Given the description of an element on the screen output the (x, y) to click on. 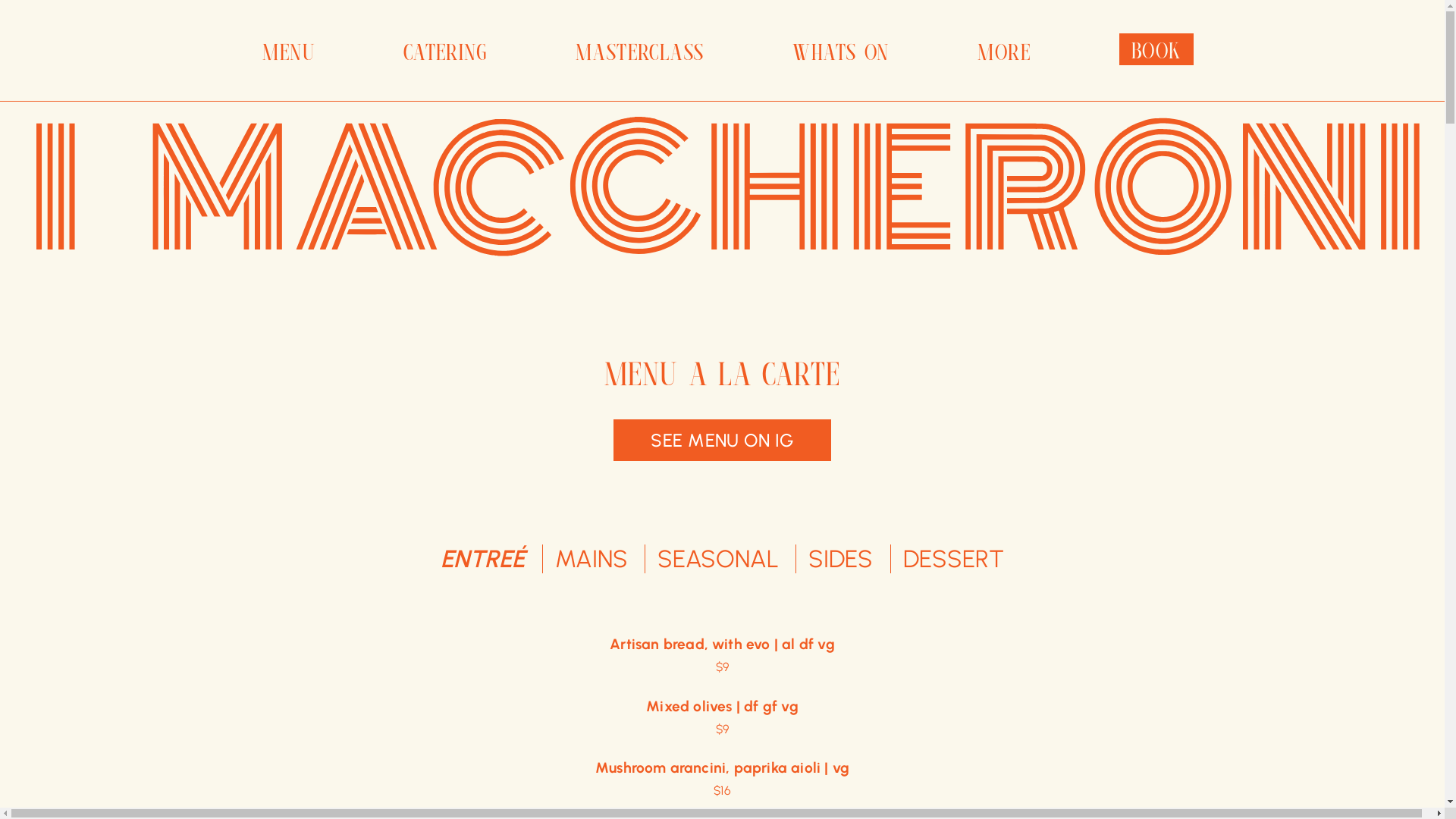
book Element type: text (1156, 49)
menu Element type: text (288, 50)
more Element type: text (1003, 50)
SEE MENU ON IG Element type: text (722, 440)
catering Element type: text (444, 50)
whats on Element type: text (840, 50)
masterclass Element type: text (639, 50)
